Given the description of an element on the screen output the (x, y) to click on. 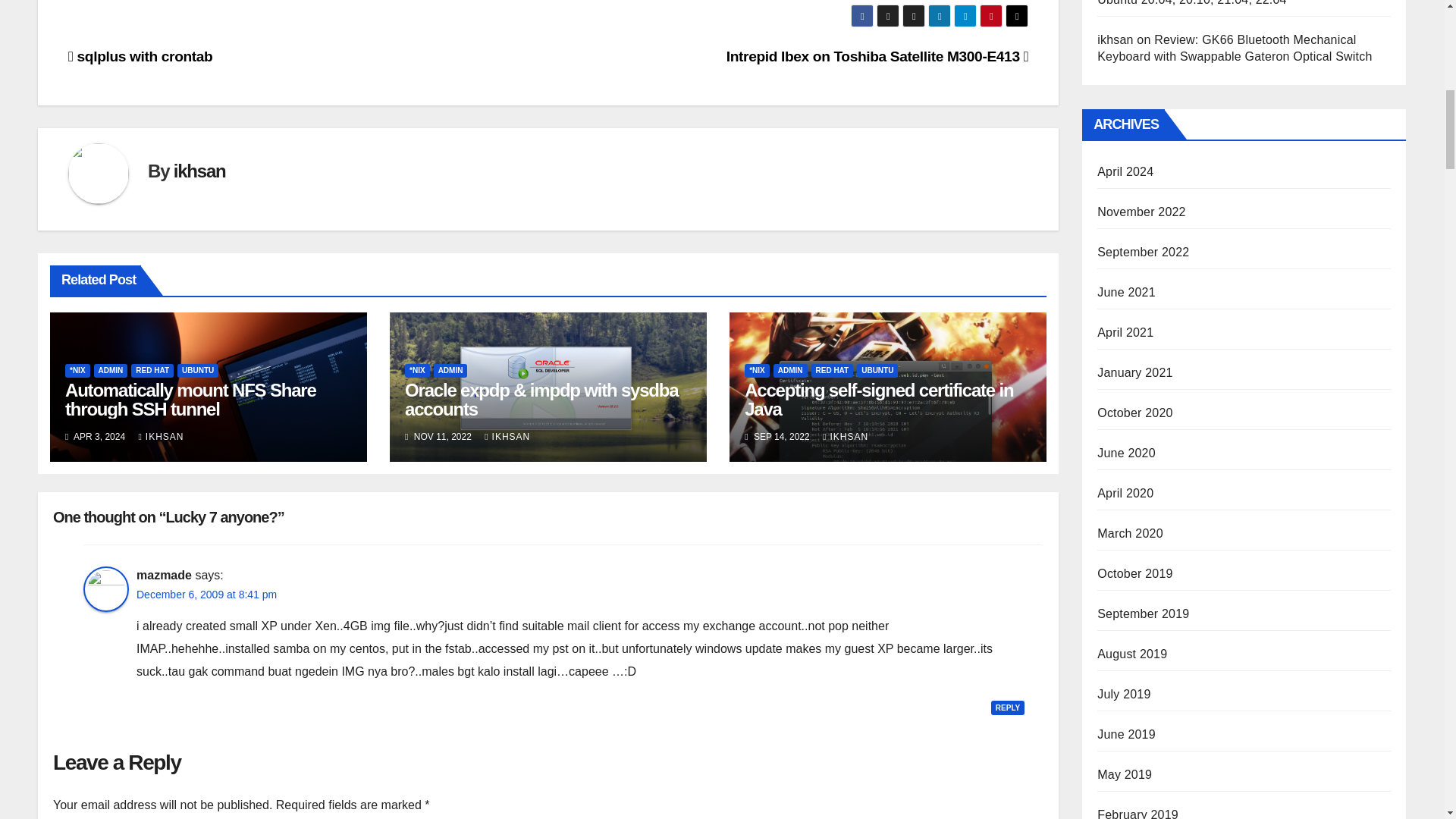
Intrepid Ibex on Toshiba Satellite M300-E413 (876, 56)
ADMIN (111, 370)
sqlplus with crontab (140, 56)
ikhsan (199, 170)
Permalink to: Accepting self-signed certificate in Java (878, 399)
RED HAT (152, 370)
